Given the description of an element on the screen output the (x, y) to click on. 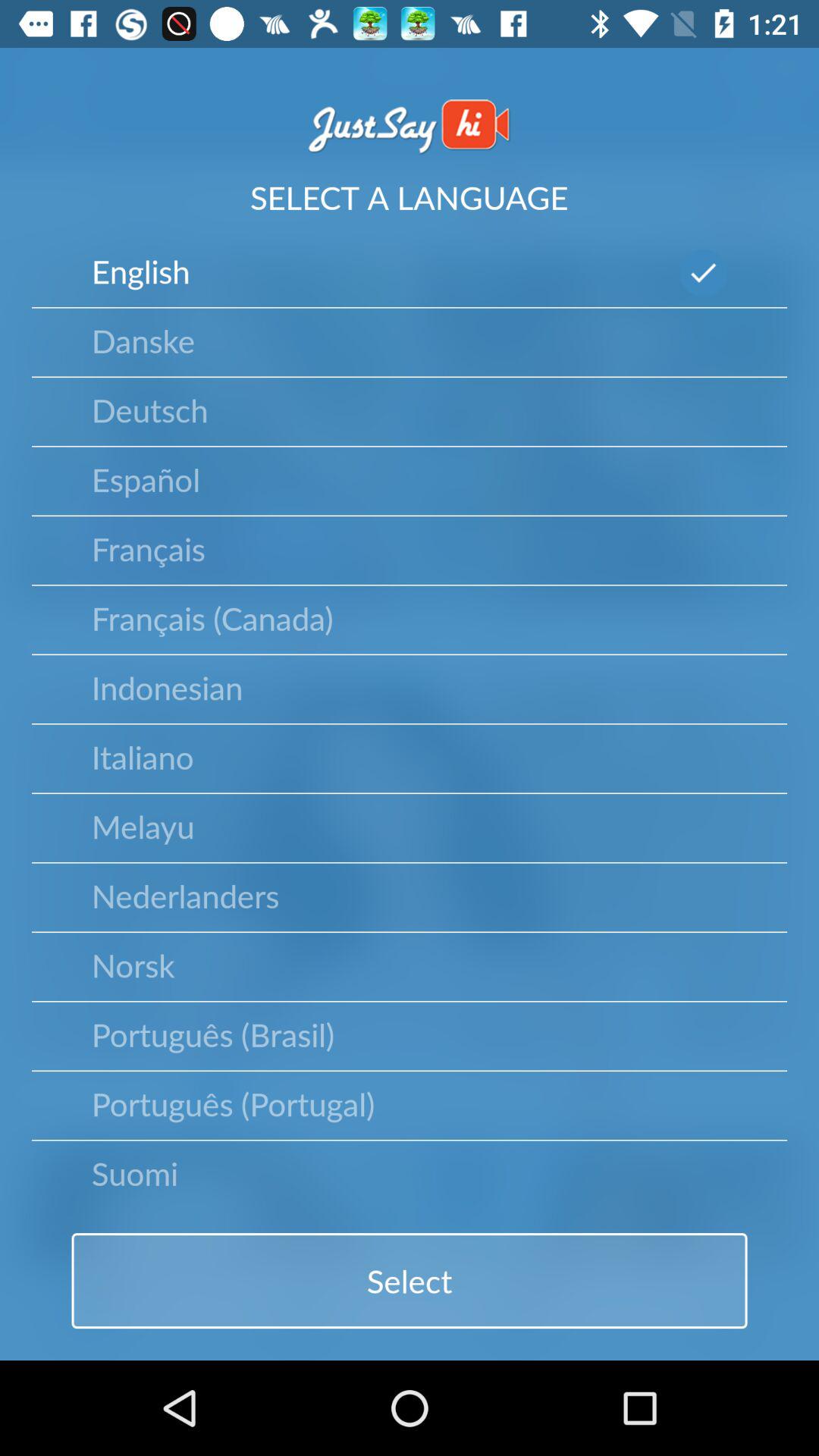
select icon above danske (140, 270)
